Given the description of an element on the screen output the (x, y) to click on. 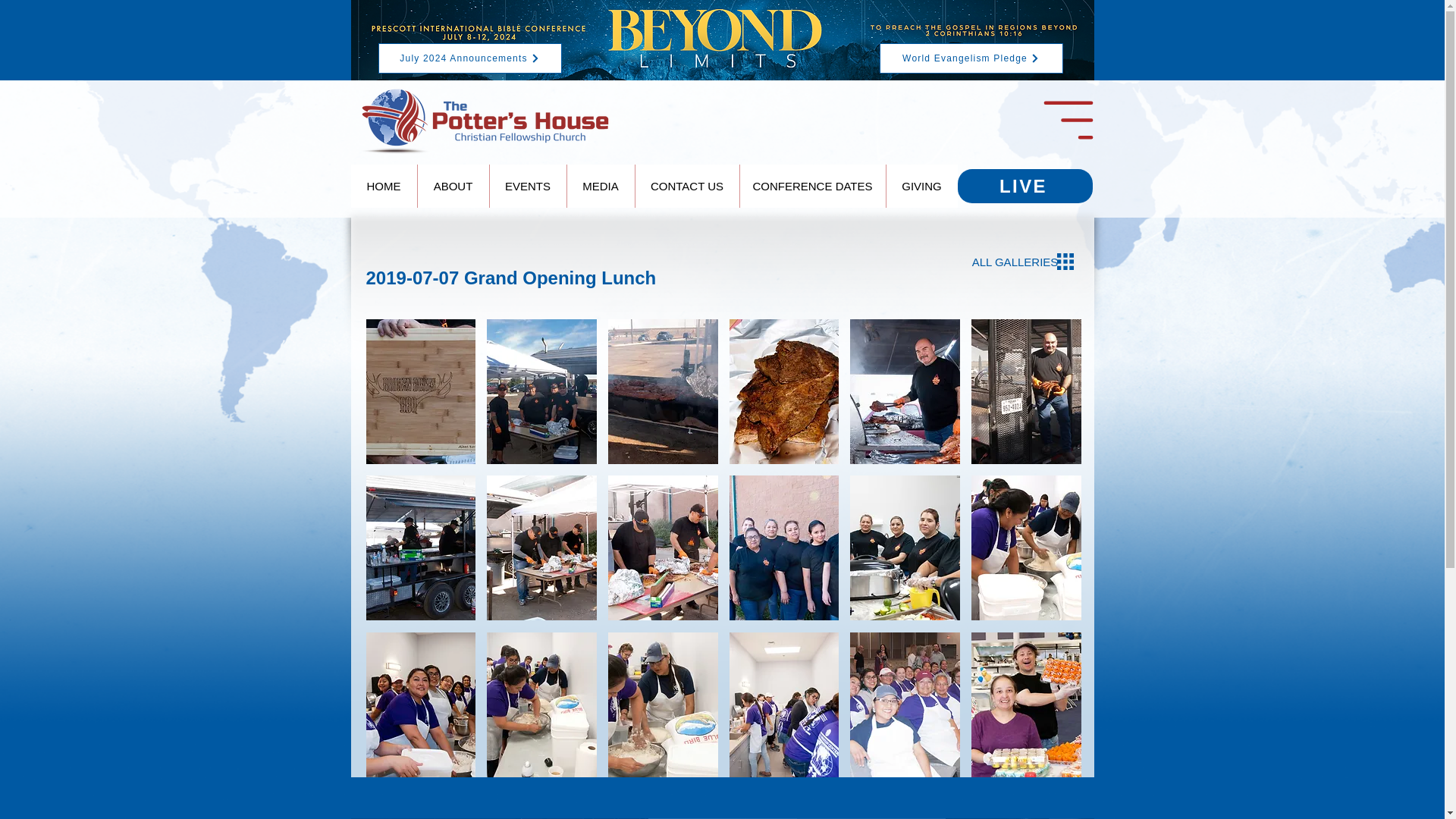
MEDIA (599, 186)
LIVE (1024, 185)
July 2024 Announcements (468, 58)
ABOUT (452, 186)
GIVING (921, 186)
EVENTS (526, 186)
Potter's House Prescott (484, 120)
CONFERENCE DATES (811, 186)
World Evangelism Pledge (970, 58)
HOME (383, 186)
CONTACT US (685, 186)
ALL GALLERIES (1015, 262)
